Given the description of an element on the screen output the (x, y) to click on. 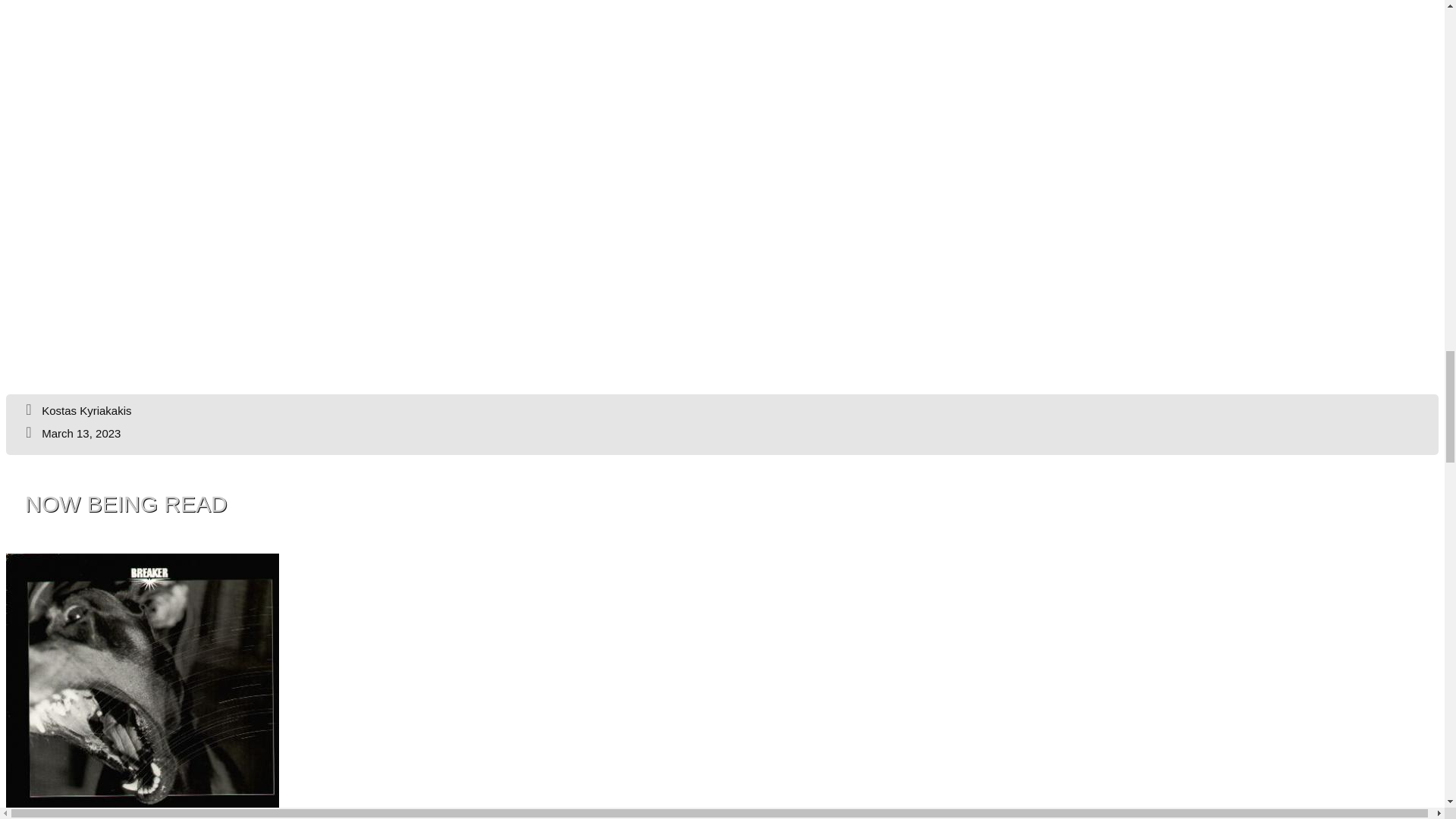
Author name (76, 410)
Publish date (70, 432)
